Given the description of an element on the screen output the (x, y) to click on. 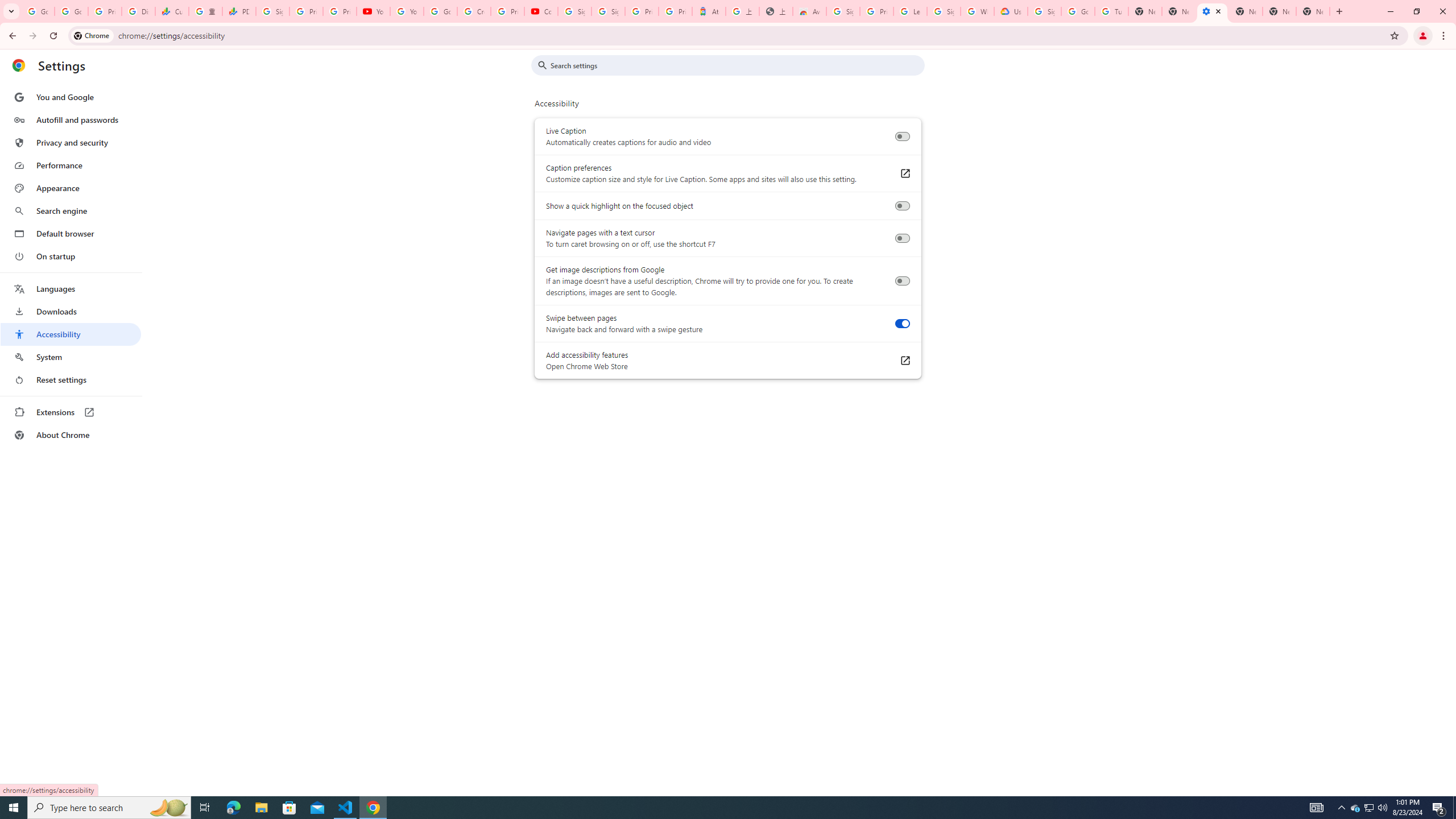
Swipe between pages (901, 323)
You and Google (70, 96)
YouTube (372, 11)
Sign in - Google Accounts (608, 11)
Show a quick highlight on the focused object (901, 206)
Languages (70, 288)
Extensions (70, 412)
PDD Holdings Inc - ADR (PDD) Price & News - Google Finance (238, 11)
Google Account Help (1077, 11)
Live Caption (901, 136)
